Given the description of an element on the screen output the (x, y) to click on. 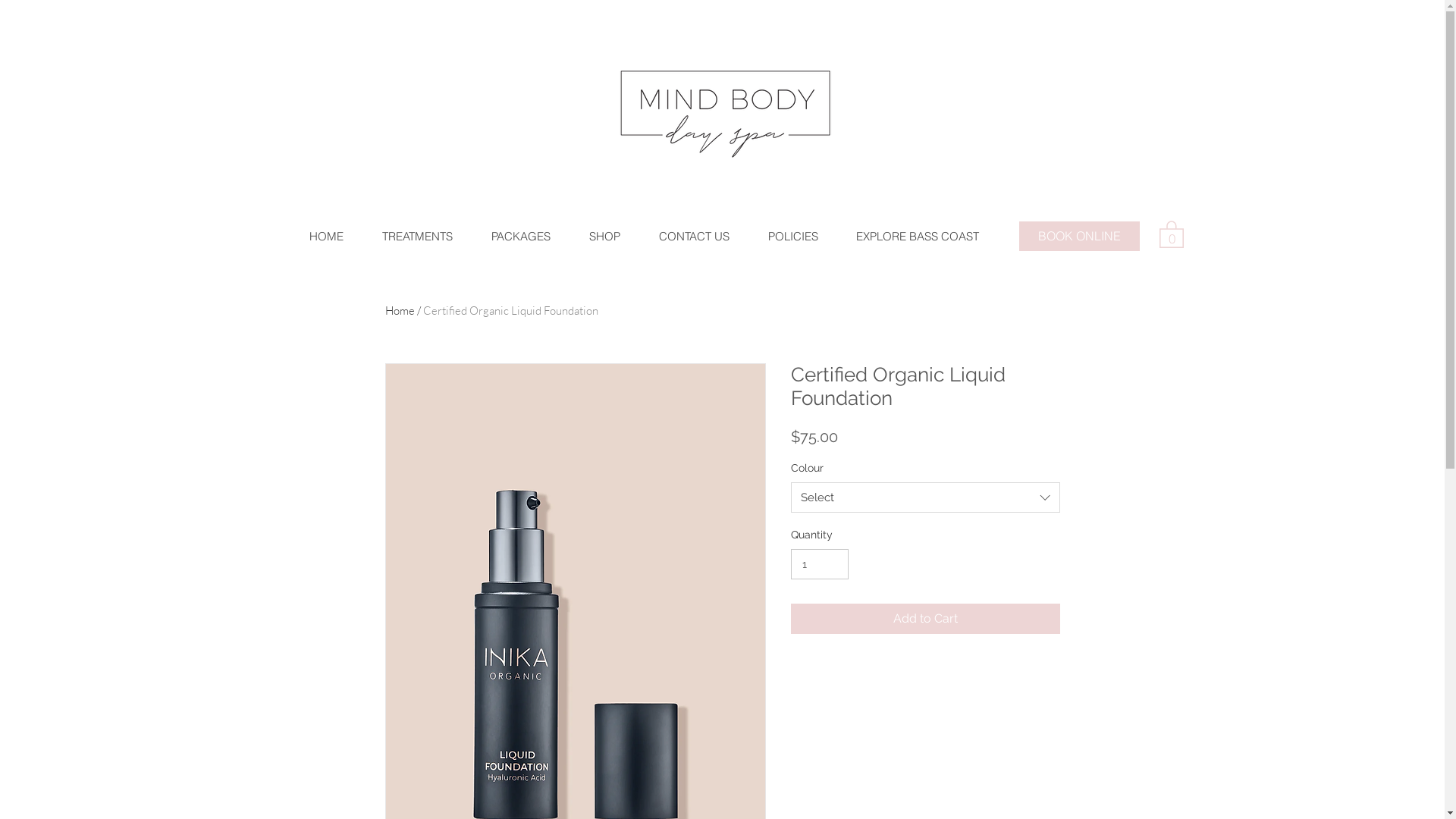
EXPLORE BASS COAST Element type: text (917, 236)
POLICIES Element type: text (791, 236)
Add to Cart Element type: text (924, 618)
CONTACT US Element type: text (692, 236)
Home Element type: text (399, 310)
Certified Organic Liquid Foundation Element type: text (510, 310)
PACKAGES Element type: text (520, 236)
BOOK ONLINE Element type: text (1079, 236)
HOME Element type: text (325, 236)
Select Element type: text (924, 497)
0 Element type: text (1170, 233)
